Given the description of an element on the screen output the (x, y) to click on. 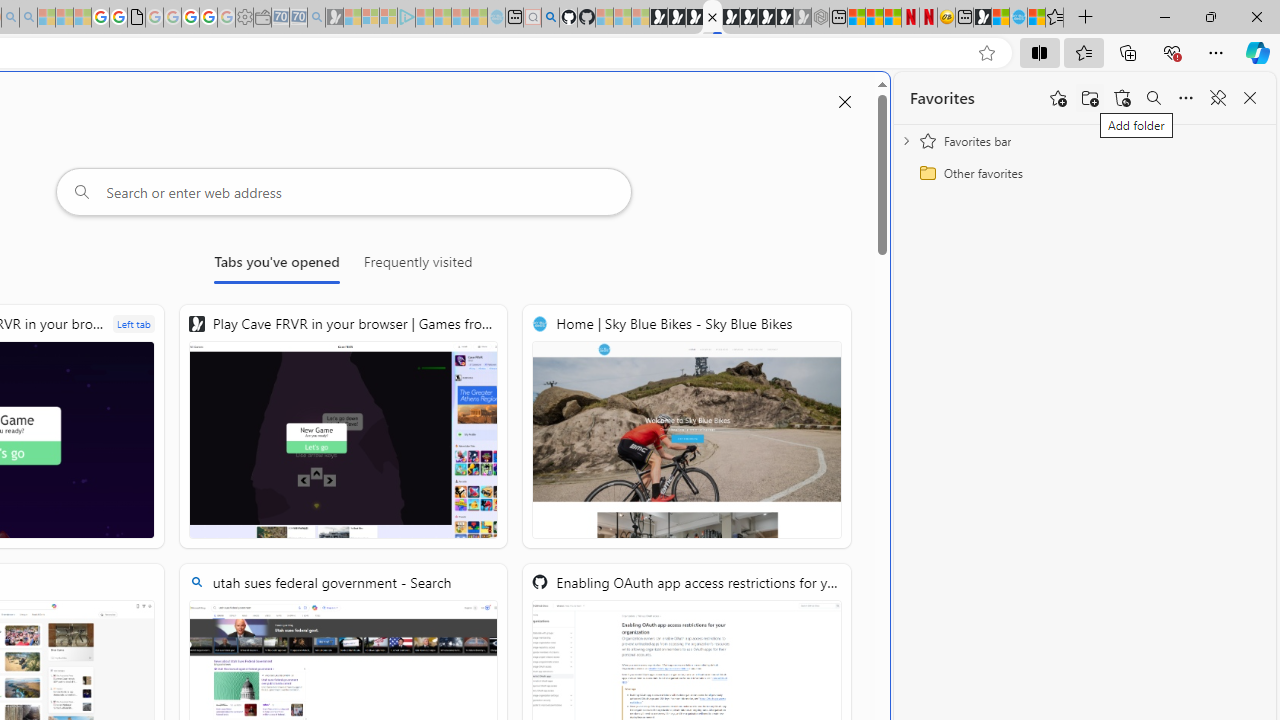
Close split screen (844, 102)
Settings - Sleeping (244, 17)
New split screen (712, 17)
